Given the description of an element on the screen output the (x, y) to click on. 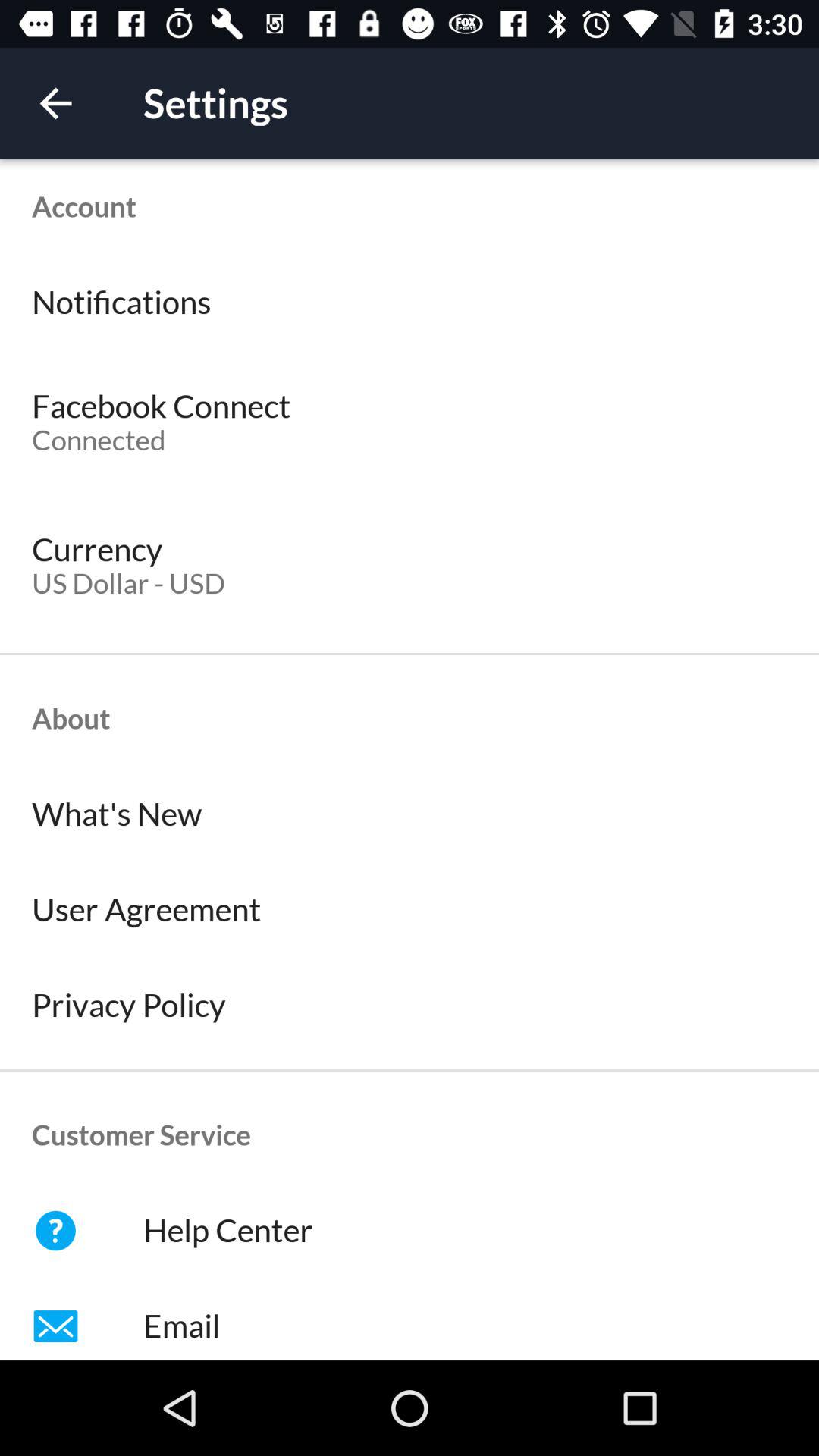
turn off privacy policy item (409, 1005)
